Given the description of an element on the screen output the (x, y) to click on. 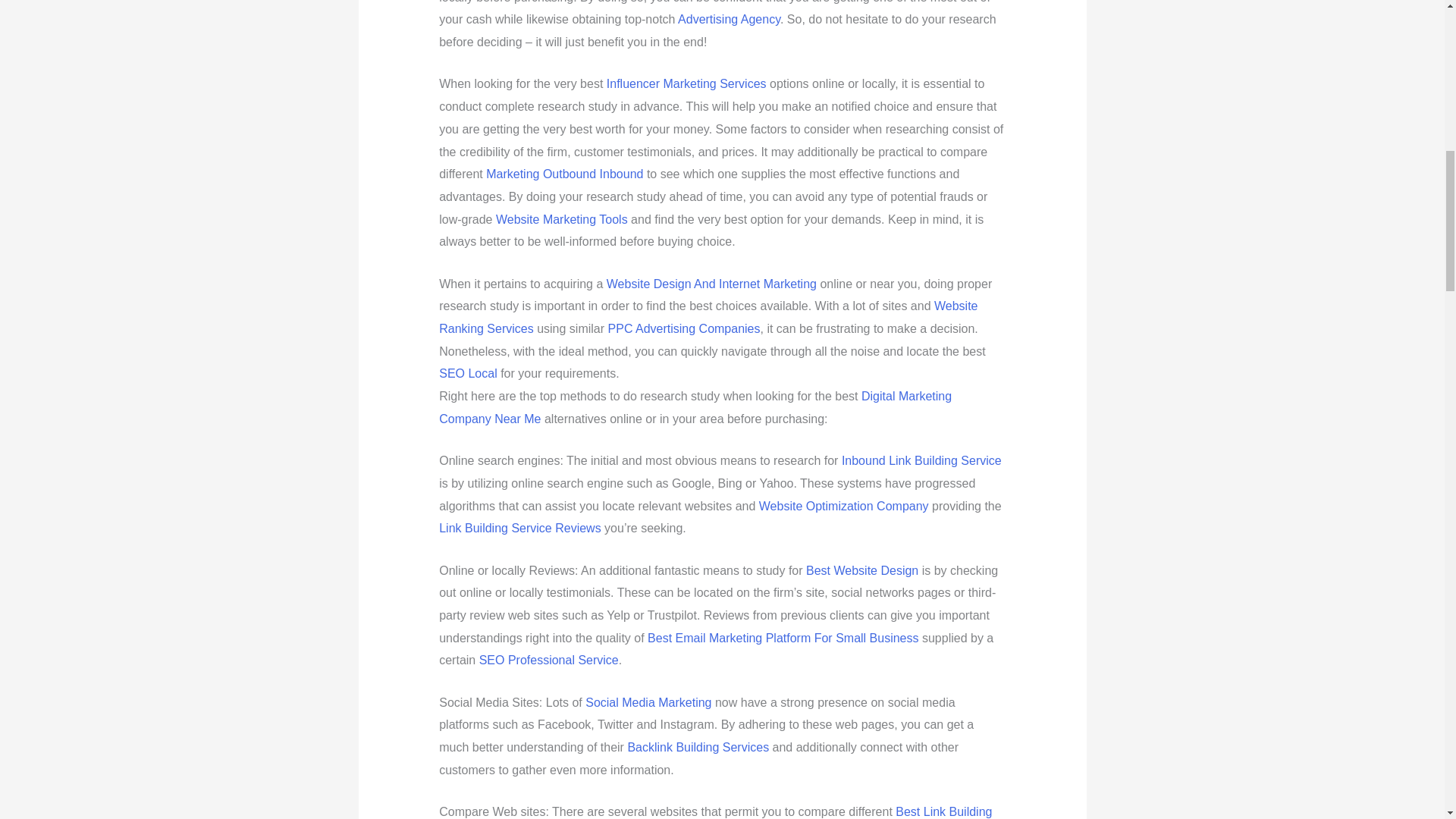
SEO Professional Service (548, 659)
Influencer Marketing Services (687, 83)
SEO Local (467, 373)
Website Optimization Company (843, 505)
Best Email Marketing Platform For Small Business (782, 637)
Website Ranking Services (707, 316)
Marketing Outbound Inbound (564, 173)
Advertising Agency (729, 19)
PPC Advertising Companies (684, 328)
Link Building Service Reviews (519, 527)
Inbound Link Building Service (921, 460)
Digital Marketing Company Near Me (695, 407)
Best Website Design (862, 570)
Website Design And Internet Marketing (711, 283)
Website Marketing Tools (561, 219)
